Given the description of an element on the screen output the (x, y) to click on. 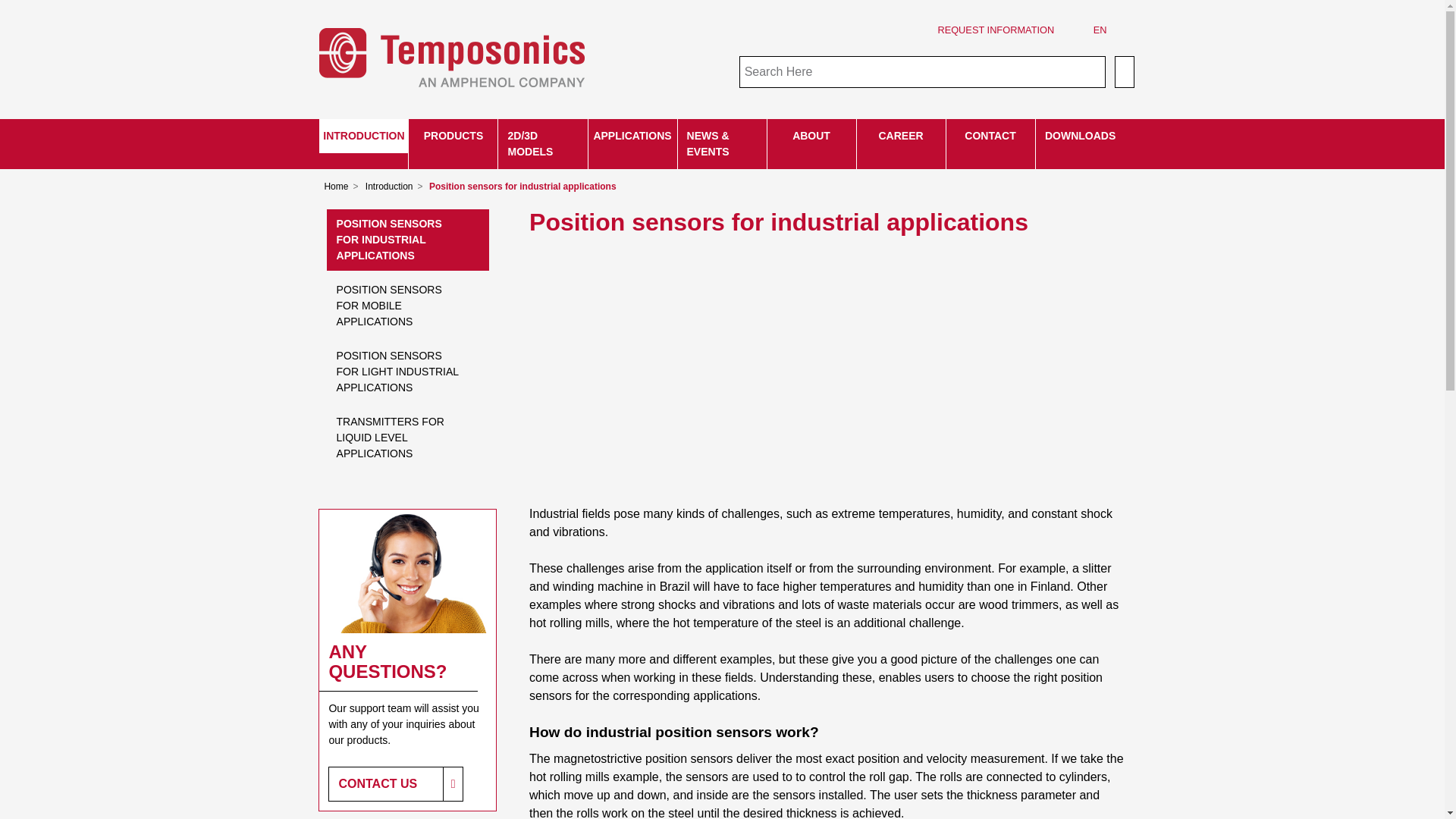
PRODUCTS (453, 135)
YouTube video player (741, 367)
INTRODUCTION (362, 135)
REQUEST INFORMATION (994, 30)
